Given the description of an element on the screen output the (x, y) to click on. 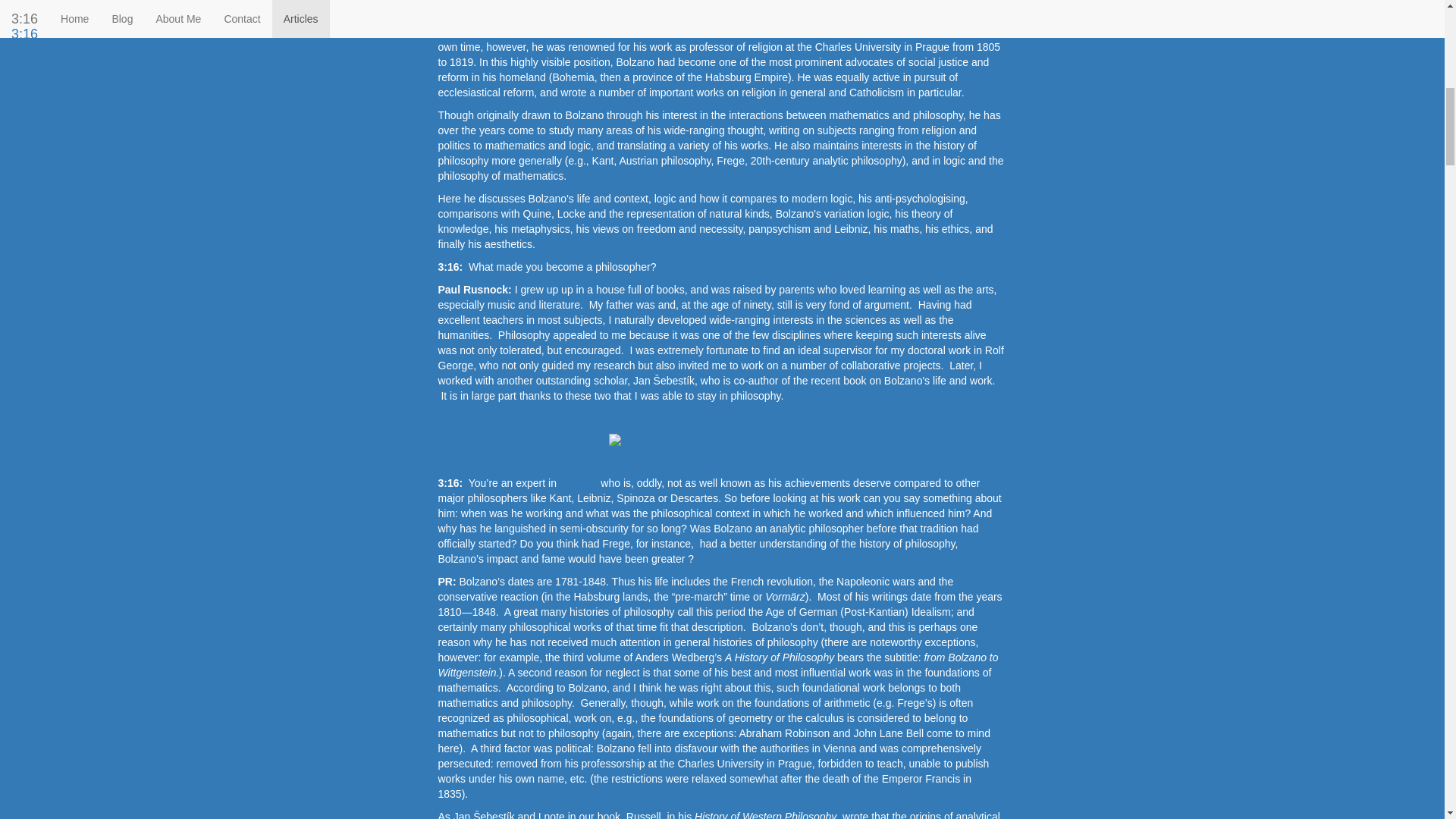
Bolzano (578, 482)
